Given the description of an element on the screen output the (x, y) to click on. 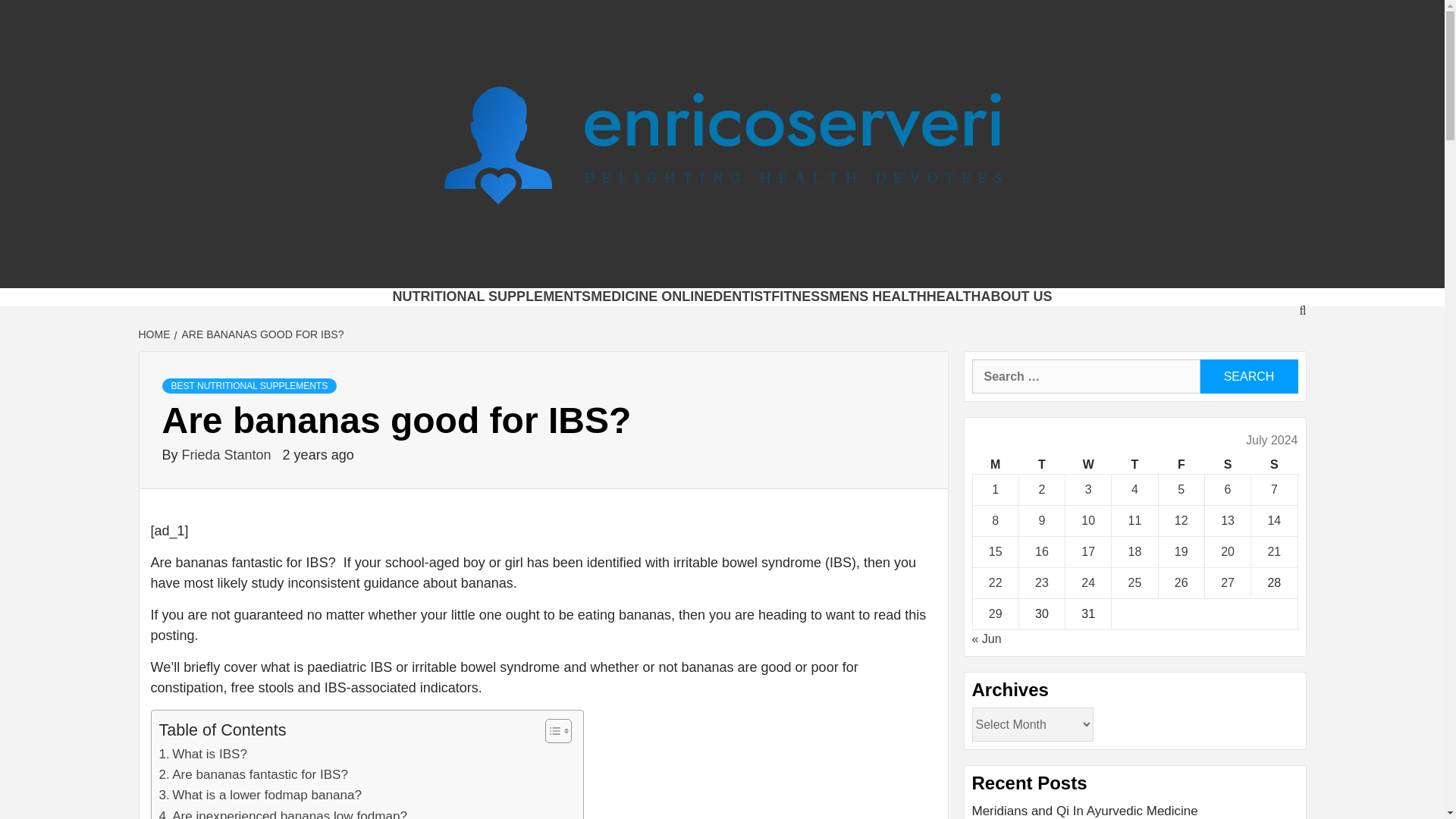
Tuesday (1040, 465)
ARE BANANAS GOOD FOR IBS? (260, 334)
Monday (994, 465)
Are bananas fantastic for IBS? (253, 774)
NUTRITIONAL SUPPLEMENTS (491, 296)
Search (1248, 376)
HEALTH (953, 296)
What is a lower fodmap banana? (260, 794)
ABOUT US (1016, 296)
What is a lower fodmap banana? (260, 794)
What is IBS? (202, 753)
MENS HEALTH (877, 296)
MEDICINE ONLINE (652, 296)
BEST NUTRITIONAL SUPPLEMENTS (249, 385)
Search (1248, 376)
